Given the description of an element on the screen output the (x, y) to click on. 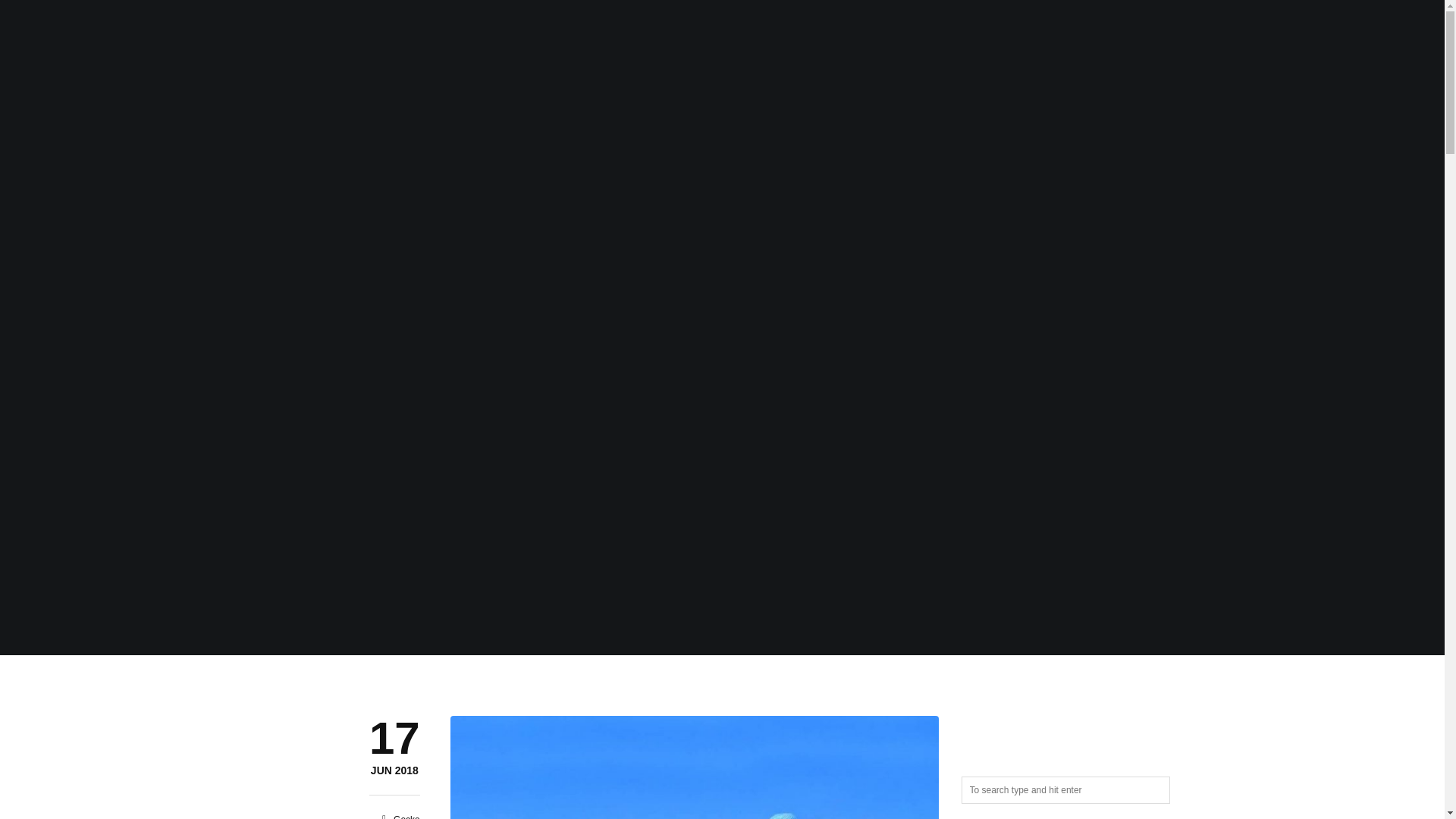
Posts by gecko (406, 816)
Gecko (406, 816)
Search for: (1065, 789)
